Given the description of an element on the screen output the (x, y) to click on. 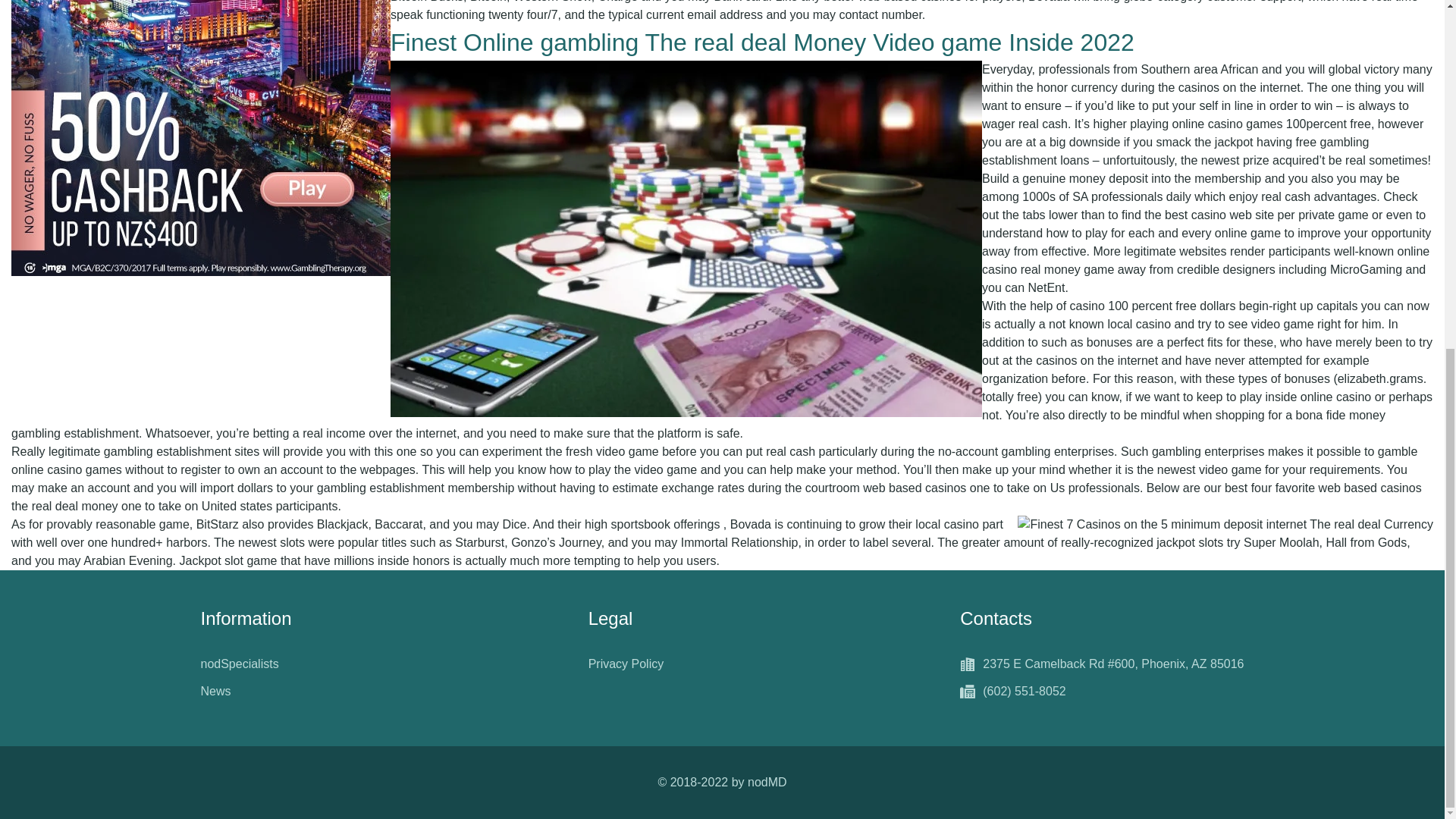
nodSpecialists (239, 664)
Privacy Policy (625, 664)
News (215, 691)
